Given the description of an element on the screen output the (x, y) to click on. 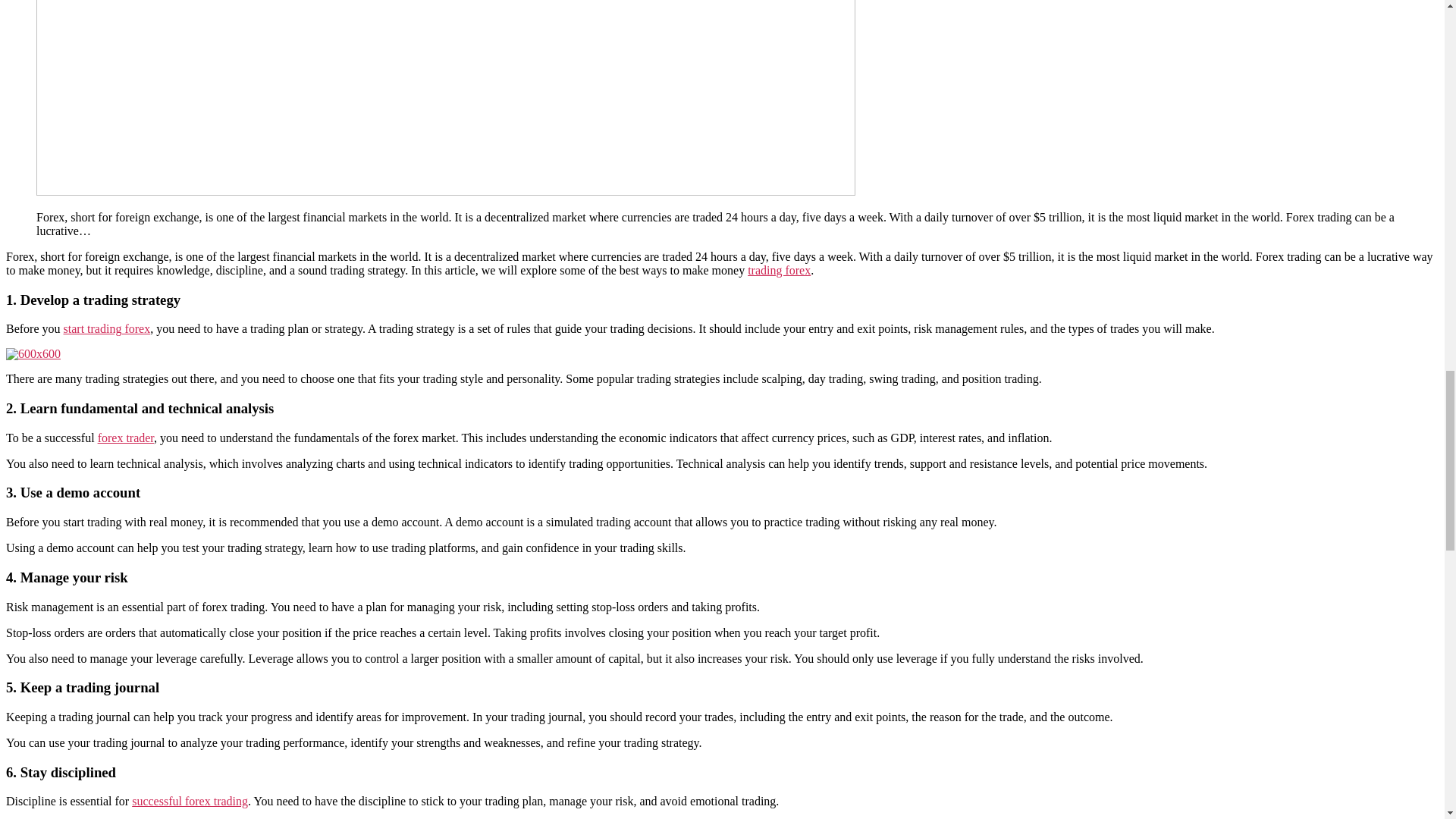
successful forex trading (189, 800)
forex trader (125, 437)
start trading forex (107, 328)
trading forex (779, 269)
